Given the description of an element on the screen output the (x, y) to click on. 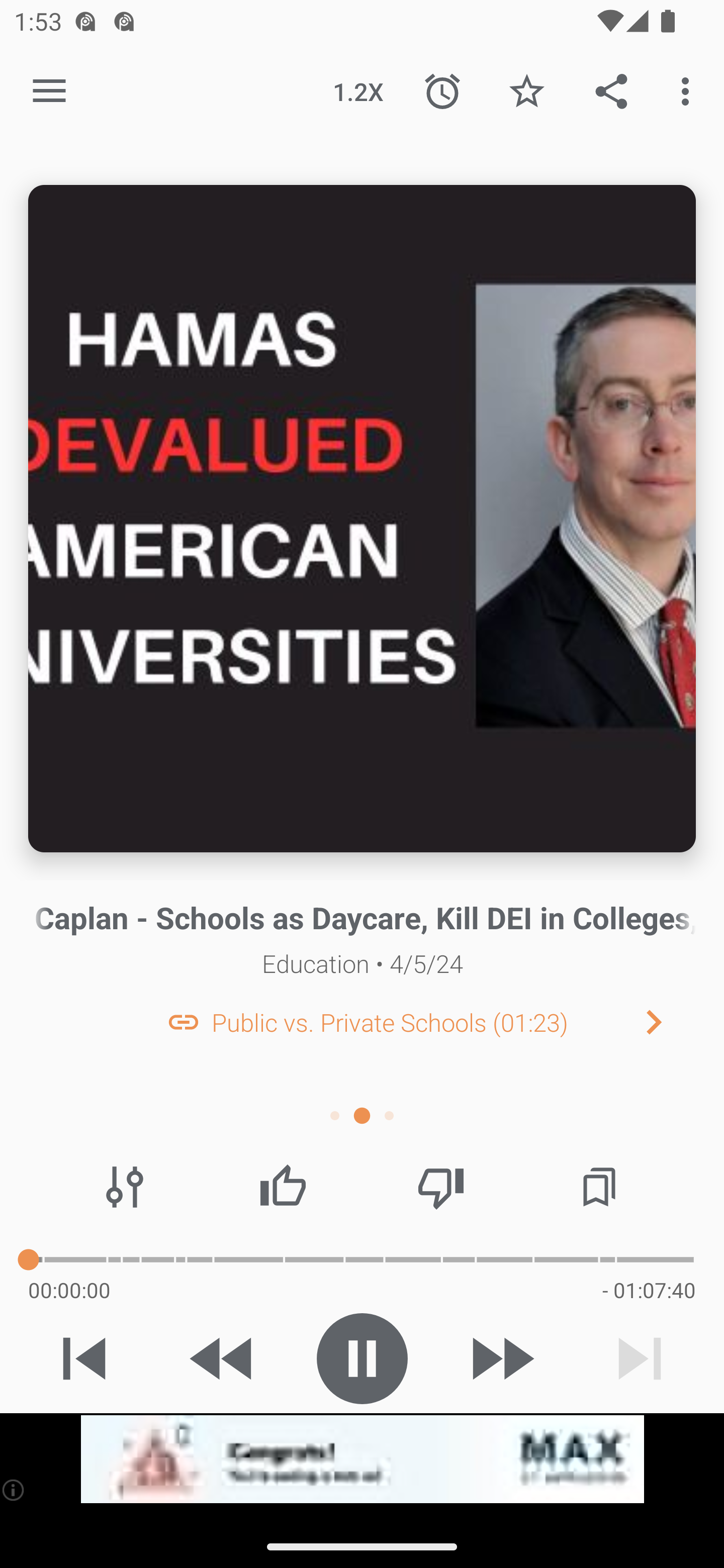
Open navigation sidebar (49, 91)
1.2X (357, 90)
Sleep Timer (442, 90)
Favorite (526, 90)
Share (611, 90)
More options (688, 90)
Episode description (361, 518)
Next Chapter (669, 1022)
Open chapter external link (183, 1022)
Public vs. Private Schools (01:23) (389, 1022)
Audio effects (124, 1186)
Thumbs up (283, 1186)
Thumbs down (440, 1186)
Chapters / Bookmarks (598, 1186)
- 01:07:40 (648, 1289)
Previous track (84, 1358)
Skip 15s backward (222, 1358)
Play / Pause (362, 1358)
Skip 30s forward (500, 1358)
Next track (639, 1358)
app-monetization (362, 1459)
(i) (14, 1489)
